Given the description of an element on the screen output the (x, y) to click on. 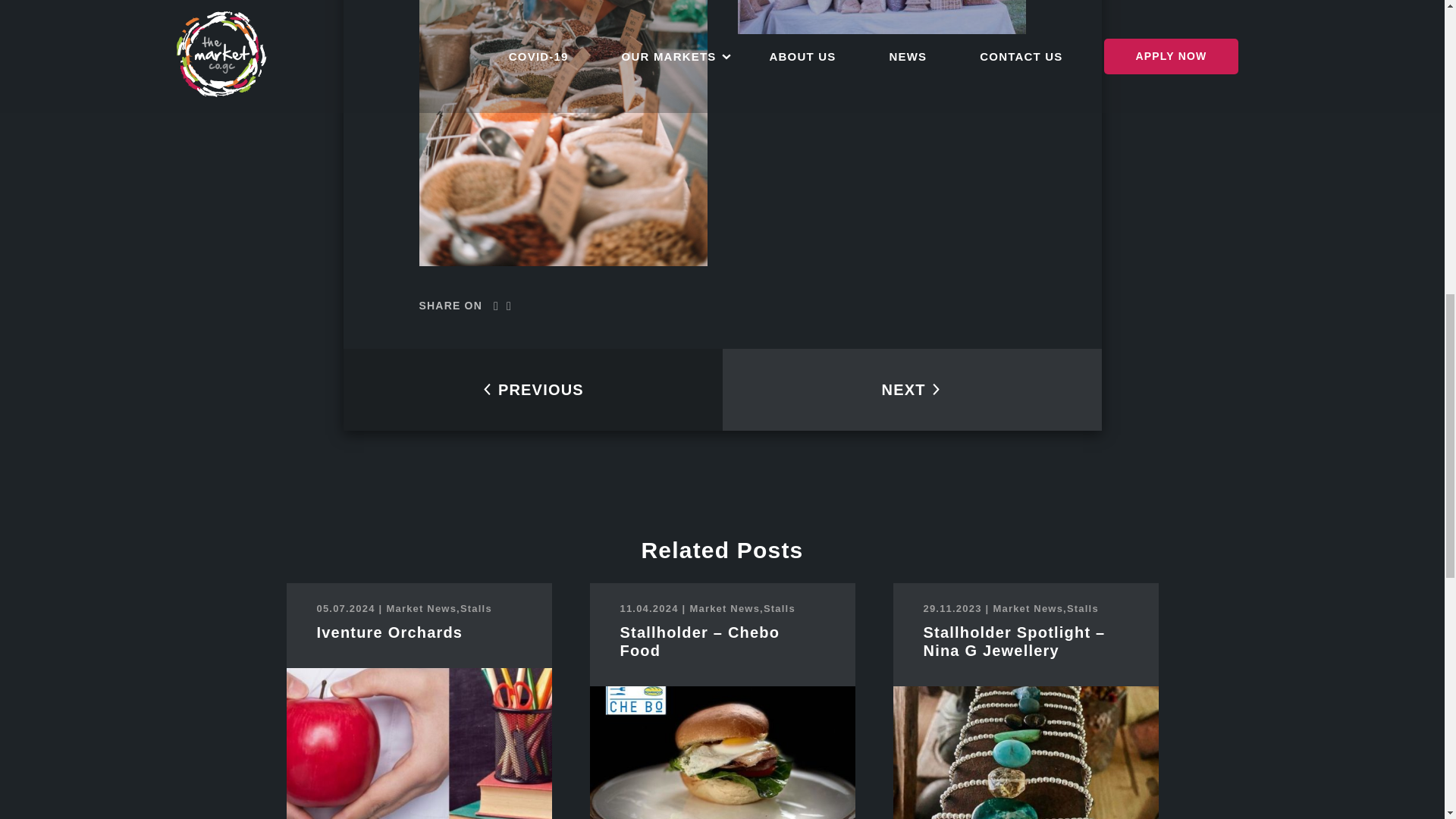
NEXT Fill 1 Created with Sketch. (911, 389)
Fill 1 Created with Sketch. PREVIOUS (532, 389)
Fill 1 Created with Sketch. (487, 389)
Fill 1 Created with Sketch. (936, 389)
